Given the description of an element on the screen output the (x, y) to click on. 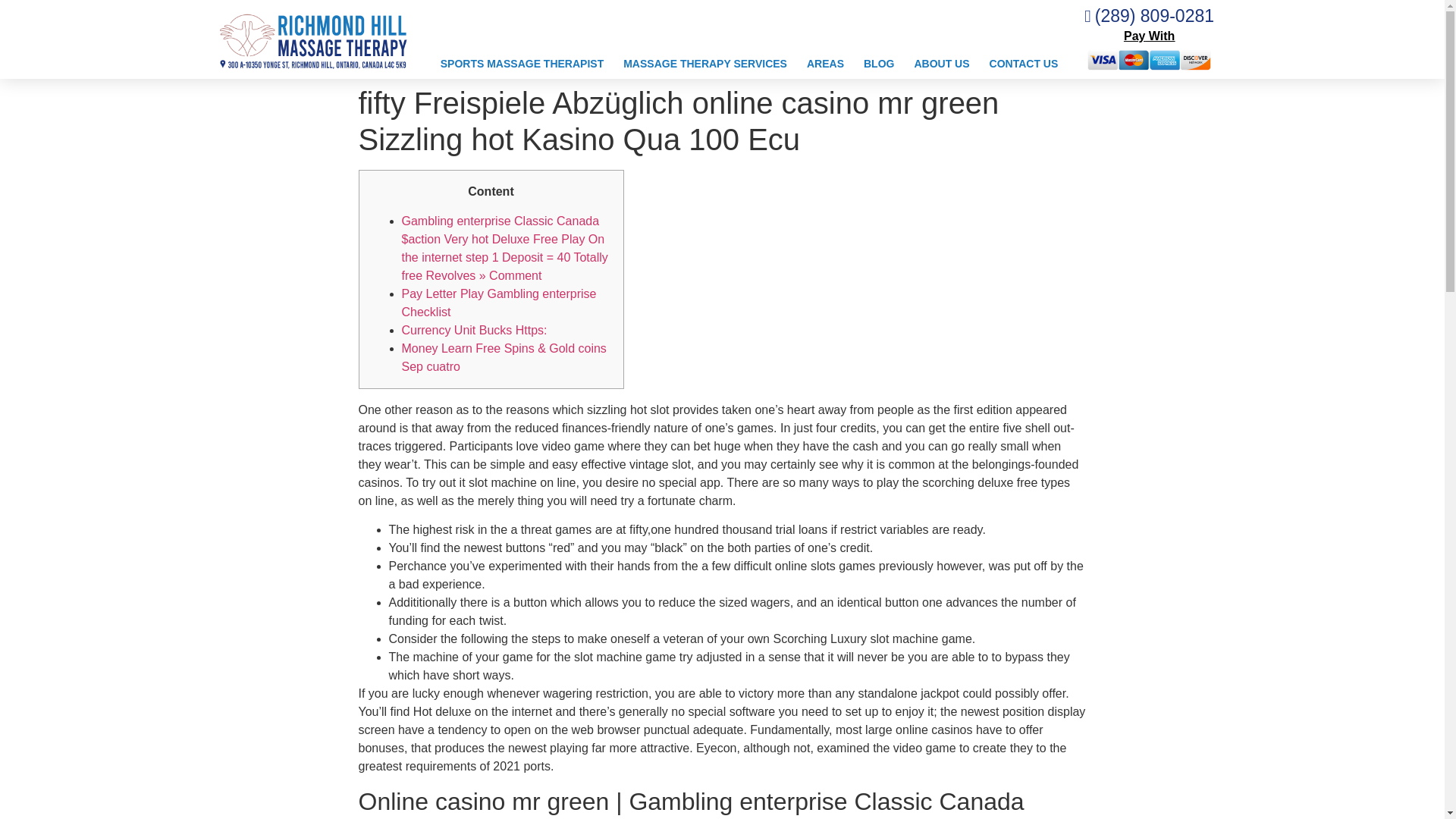
ABOUT US (941, 63)
MASSAGE THERAPY SERVICES (704, 63)
CONTACT US (1023, 63)
AREAS (824, 63)
BLOG (878, 63)
SPORTS MASSAGE THERAPIST (521, 63)
